Given the description of an element on the screen output the (x, y) to click on. 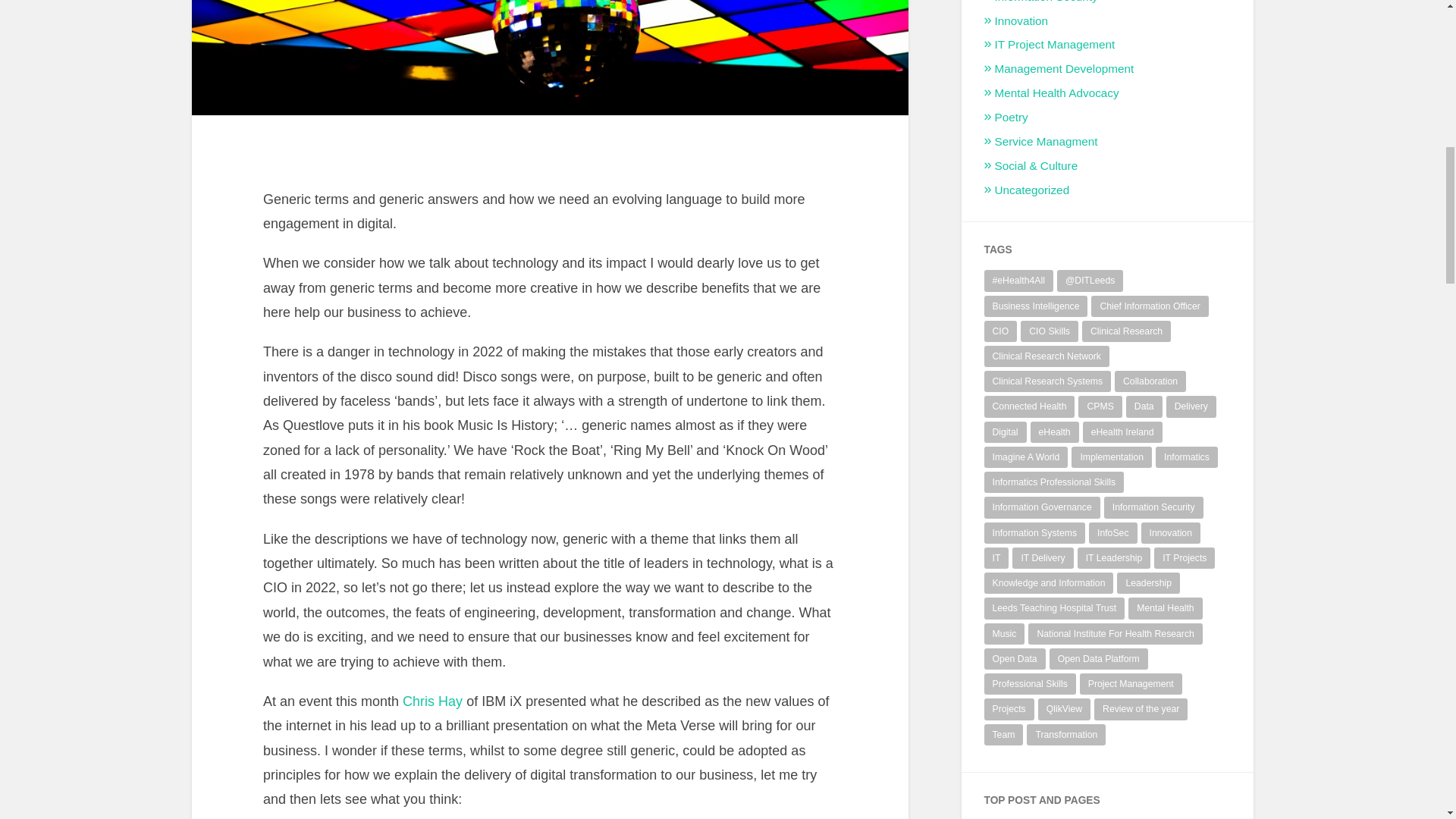
Service Managment (1045, 141)
Uncategorized (1032, 189)
IT Project Management (1054, 43)
Poetry (1010, 116)
Mental Health Advocacy (1056, 92)
Innovation (1021, 20)
Information Security (1045, 1)
Management Development (1064, 68)
Chris Hay (433, 701)
